Given the description of an element on the screen output the (x, y) to click on. 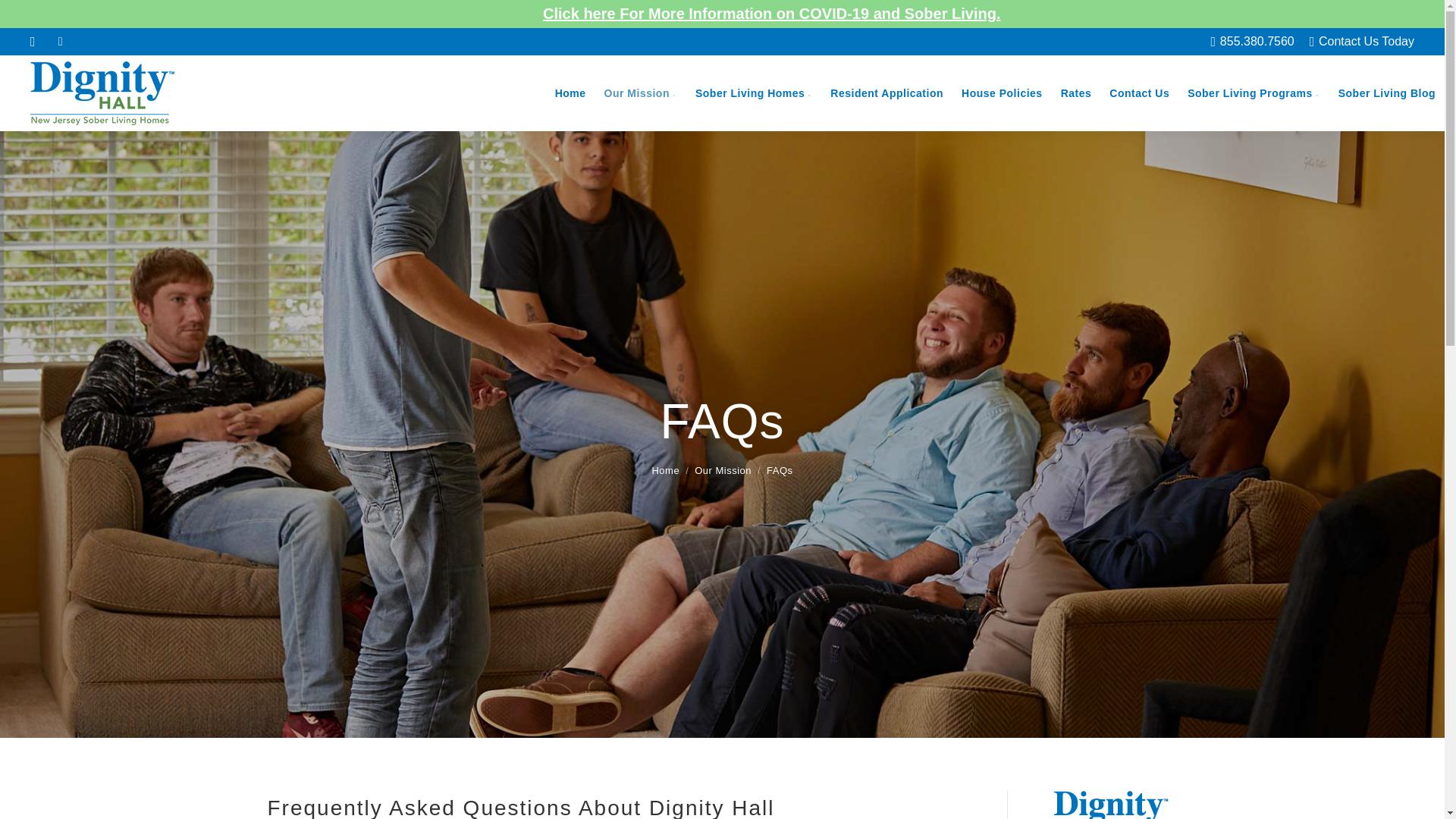
Resident Application (886, 93)
Sober Living Homes (753, 93)
House Policies (1001, 93)
Facebook page opens in new window (59, 41)
Our Mission (640, 93)
855.380.7560 (1257, 41)
Facebook page opens in new window (59, 41)
Go! (24, 15)
Sober Living Programs (1253, 93)
Contact Us (1138, 93)
Contact Us Today (1366, 41)
